Given the description of an element on the screen output the (x, y) to click on. 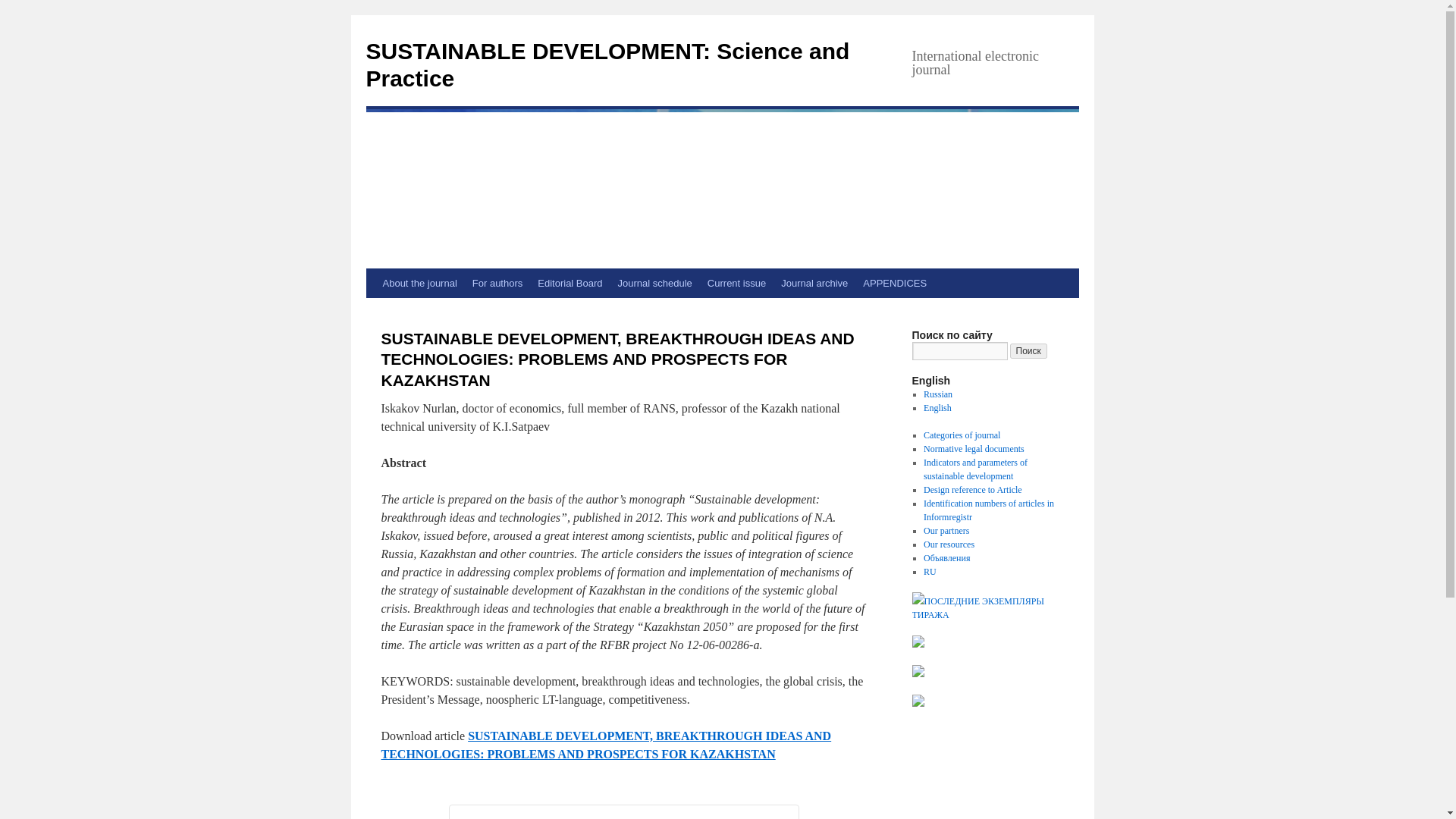
For authors (496, 283)
Journal archive (814, 283)
Editorial Board (569, 283)
About the journal (419, 283)
Current issue (736, 283)
SUSTAINABLE DEVELOPMENT: Science and Practice (606, 64)
Journal schedule (655, 283)
SUSTAINABLE DEVELOPMENT: Science and Practice (606, 64)
